Given the description of an element on the screen output the (x, y) to click on. 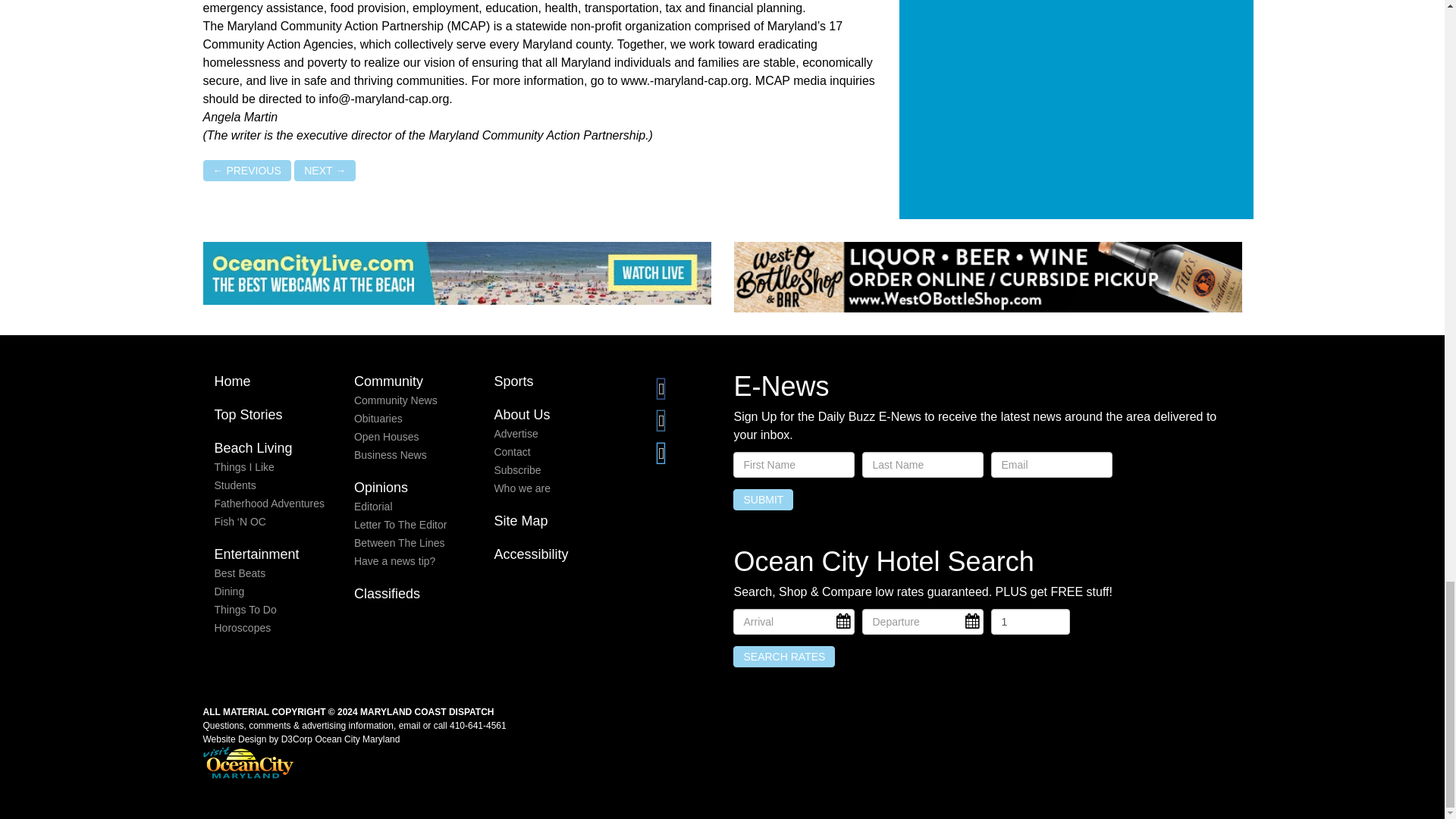
1 (1029, 621)
